Given the description of an element on the screen output the (x, y) to click on. 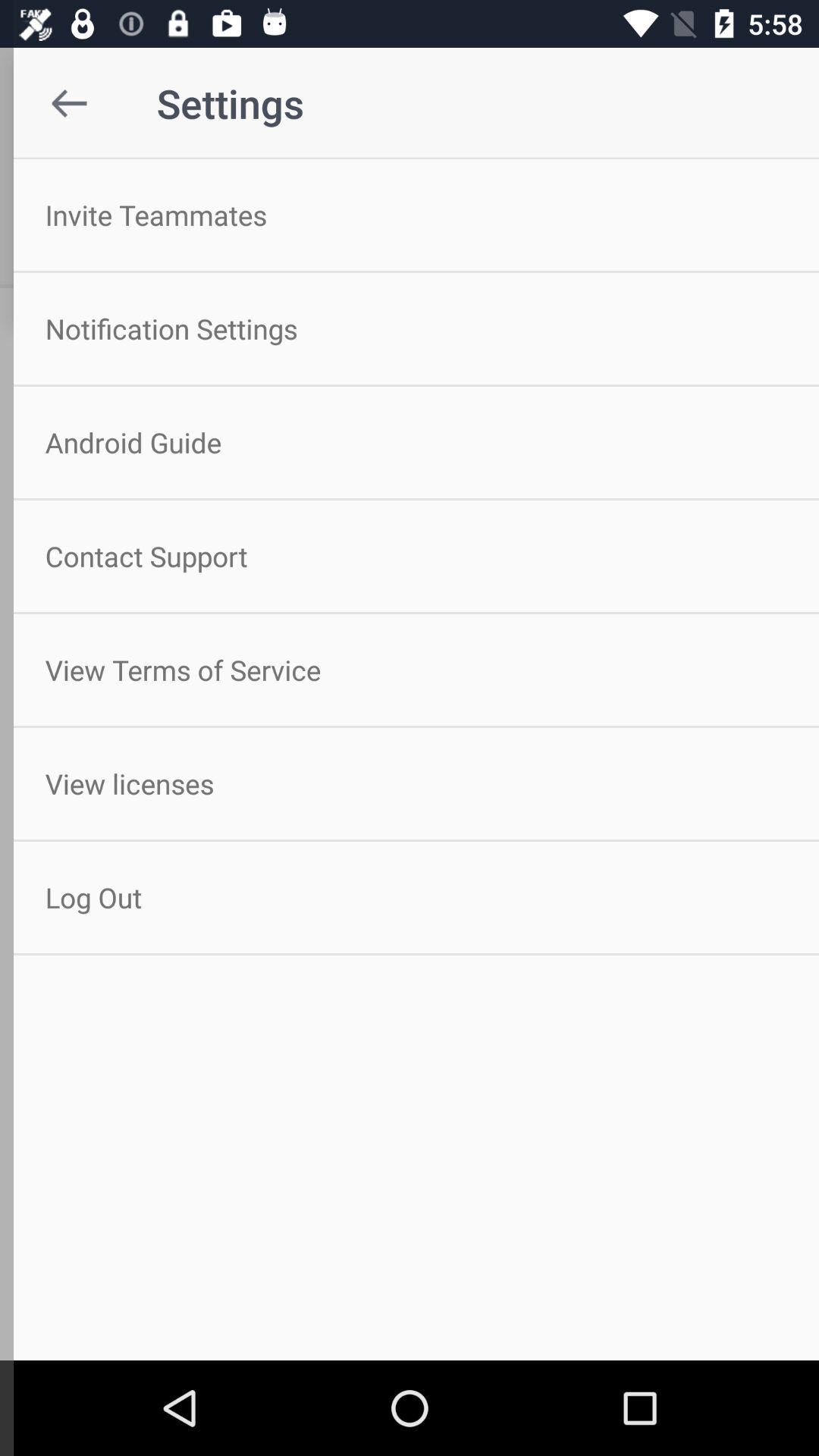
turn on the icon above contact support icon (409, 442)
